Given the description of an element on the screen output the (x, y) to click on. 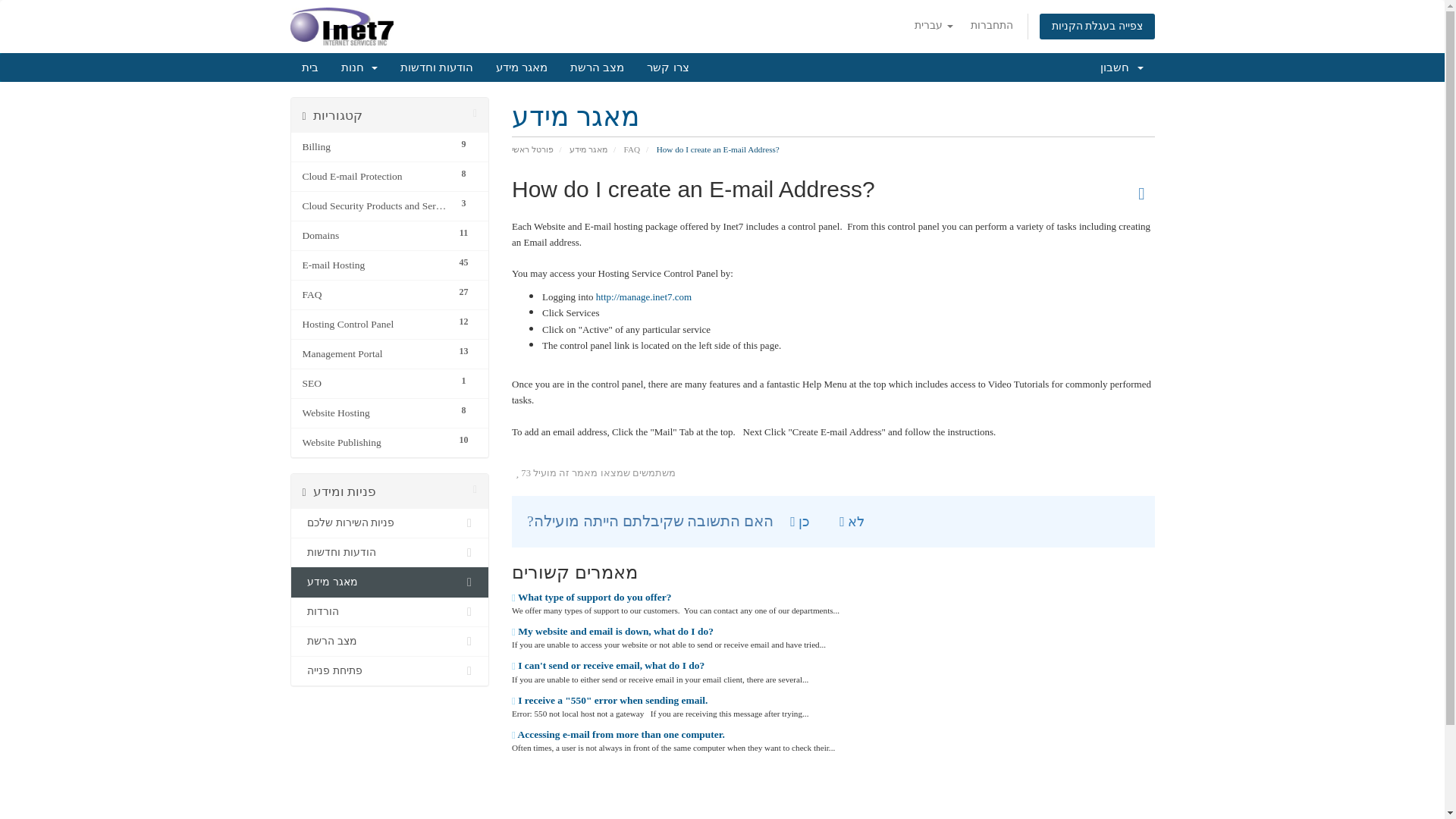
Domains (375, 235)
Website Publishing (375, 443)
Cloud E-mail Protection (375, 176)
Cloud Security Products and Services (375, 206)
Billing (375, 147)
E-mail Hosting (375, 265)
Website Hosting (375, 413)
SEO (375, 383)
Hosting Control Panel (375, 324)
Management Portal (375, 353)
FAQ (375, 294)
